Given the description of an element on the screen output the (x, y) to click on. 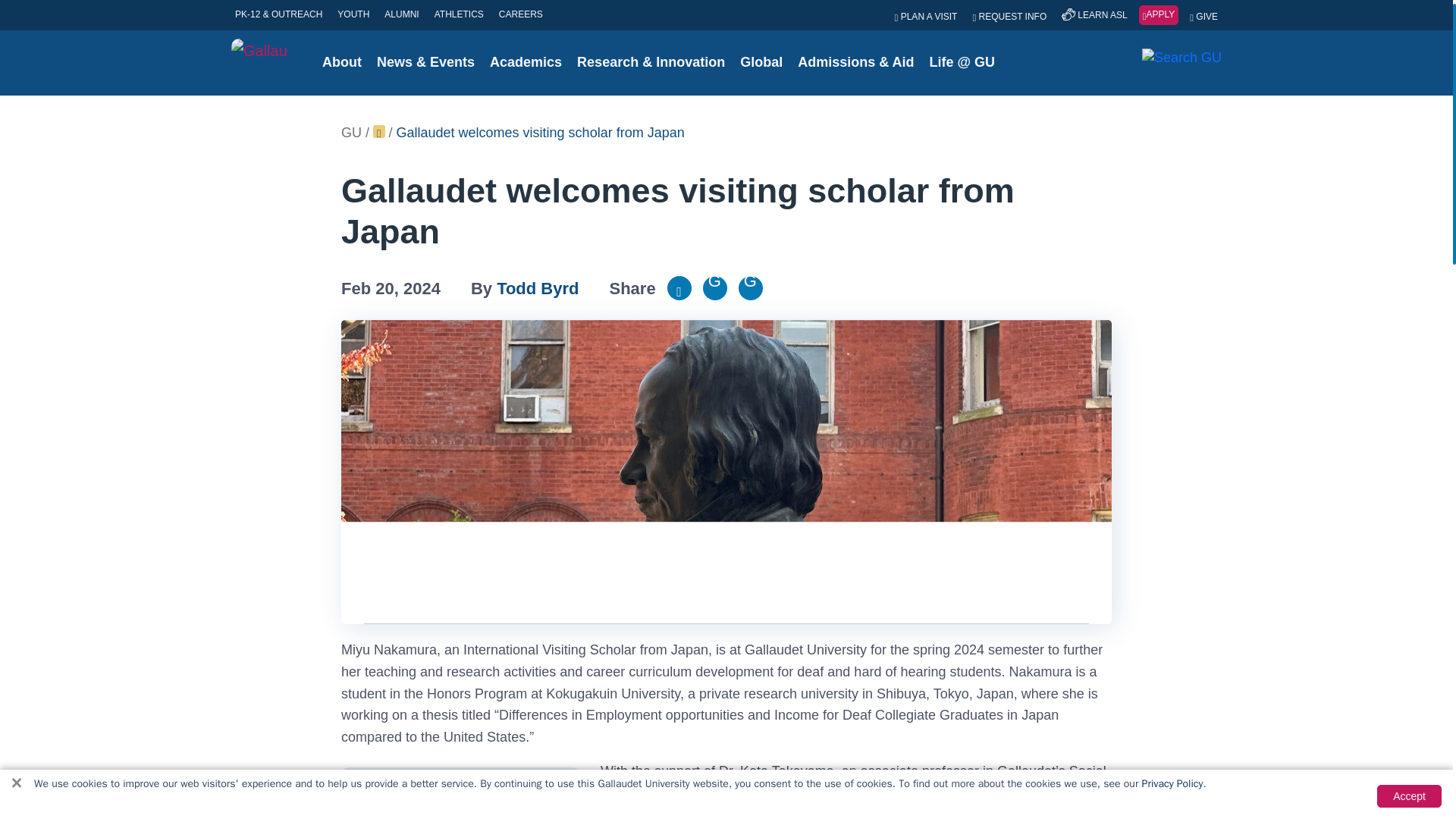
ATHLETICS (458, 14)
Accept (1409, 795)
Privacy Policy (1172, 783)
ALUMNI (401, 14)
YOUTH (352, 14)
